Given the description of an element on the screen output the (x, y) to click on. 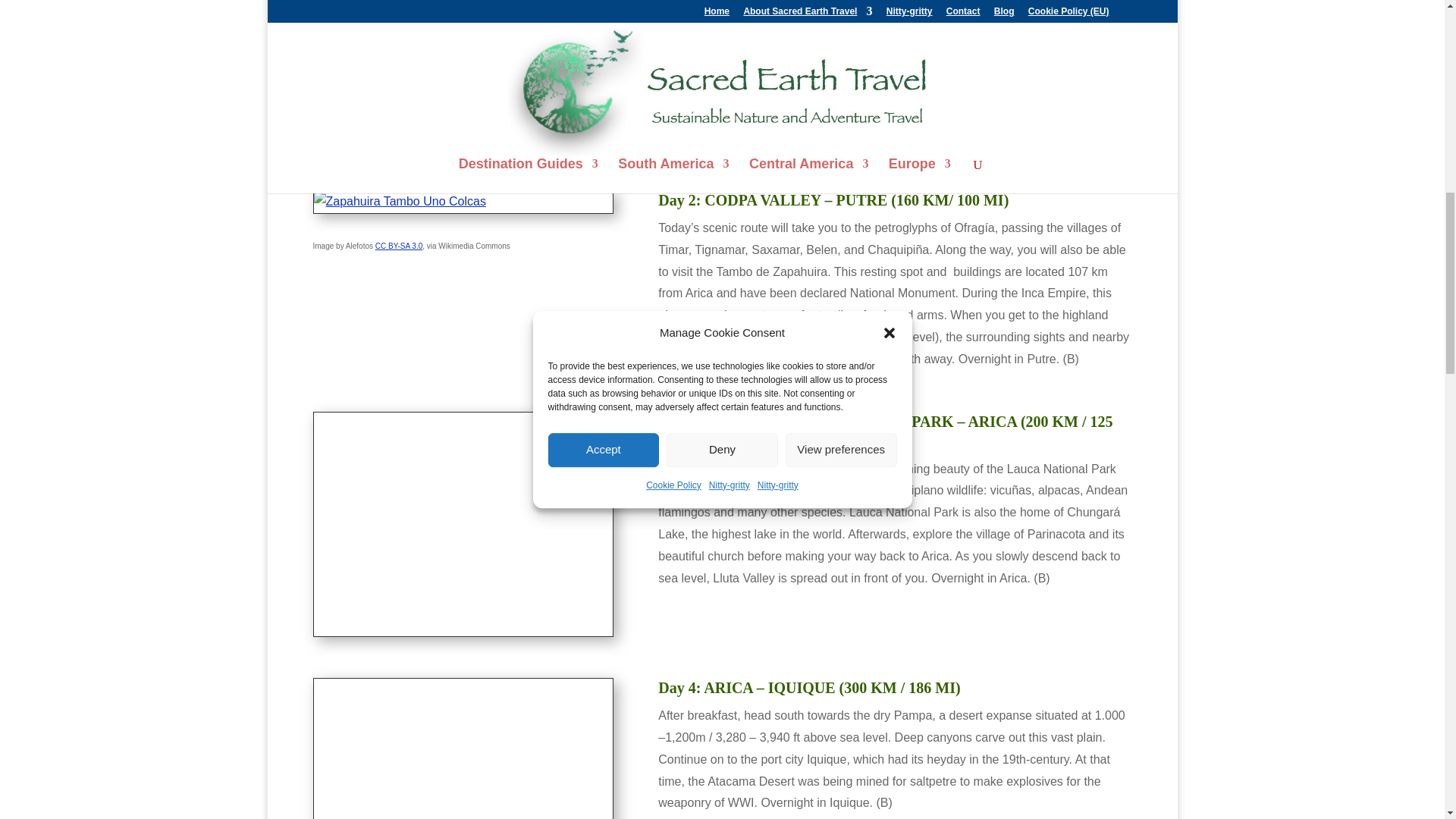
desertroad1 (463, 748)
flamingos, Atacama, Chile (463, 524)
